Given the description of an element on the screen output the (x, y) to click on. 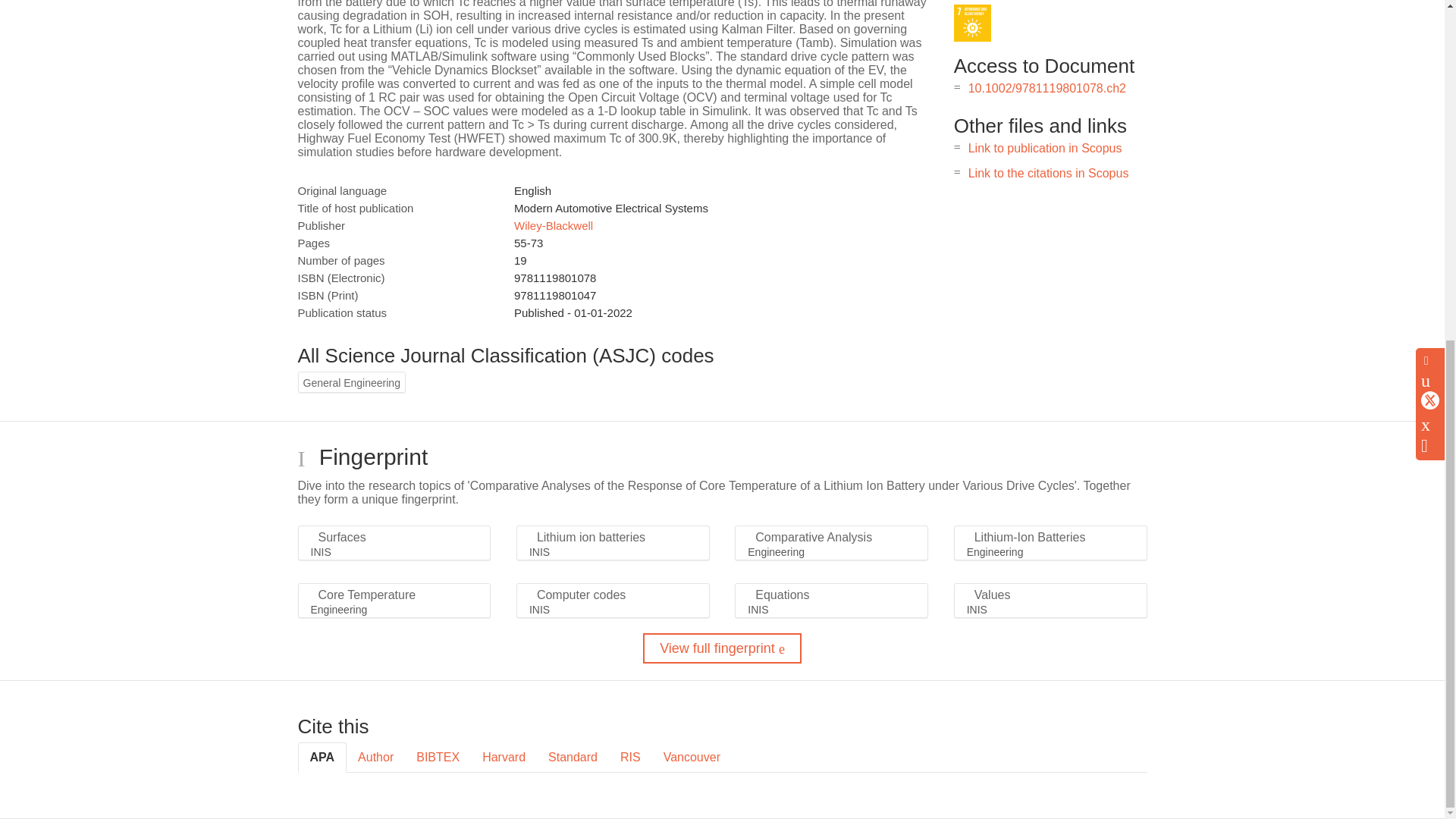
Wiley-Blackwell (552, 225)
View full fingerprint (722, 648)
Link to the citations in Scopus (1048, 173)
SDG 7 - Affordable and Clean Energy (972, 22)
Link to publication in Scopus (1045, 147)
